Given the description of an element on the screen output the (x, y) to click on. 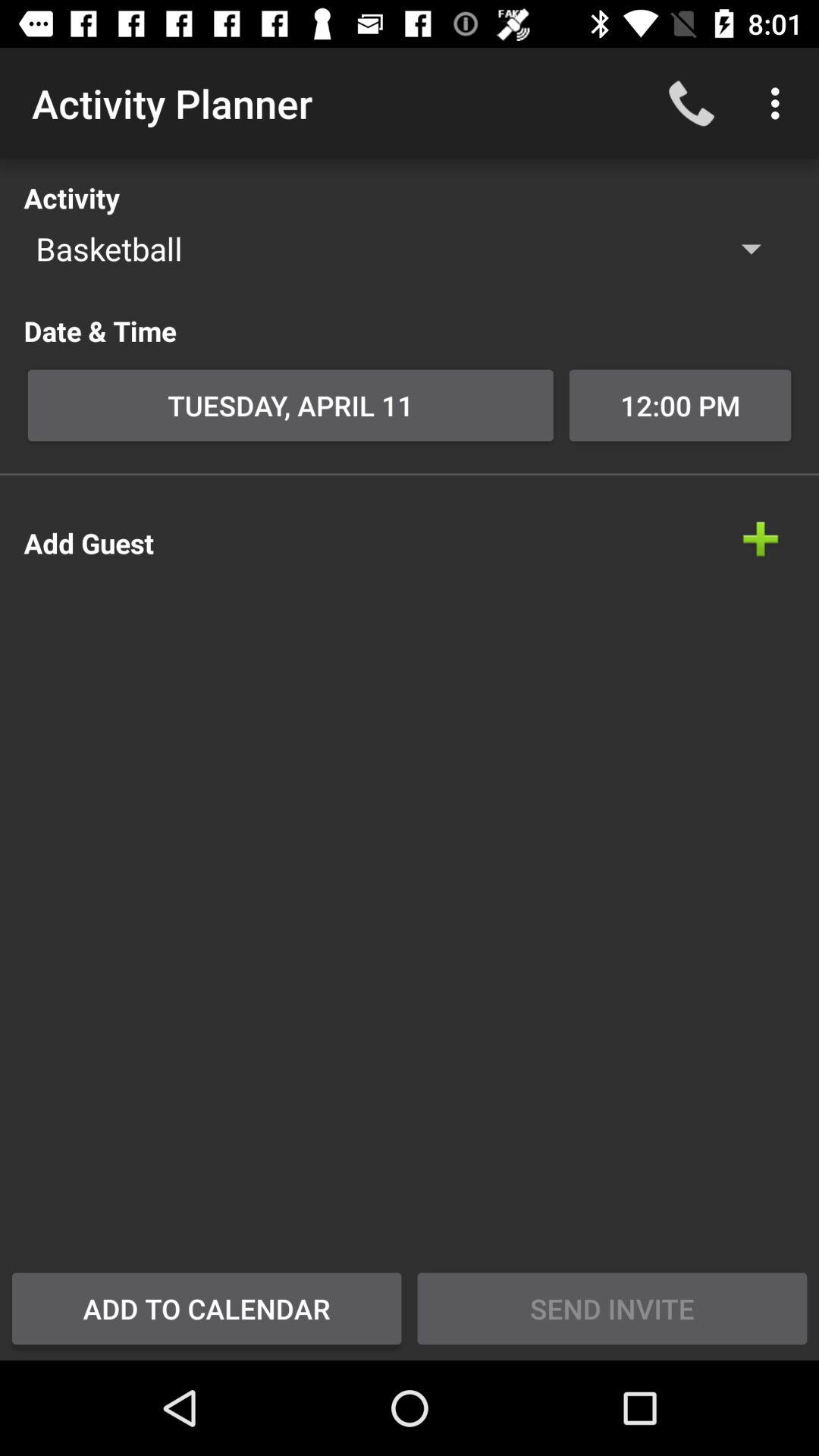
open item next to 12:00 pm (290, 405)
